Given the description of an element on the screen output the (x, y) to click on. 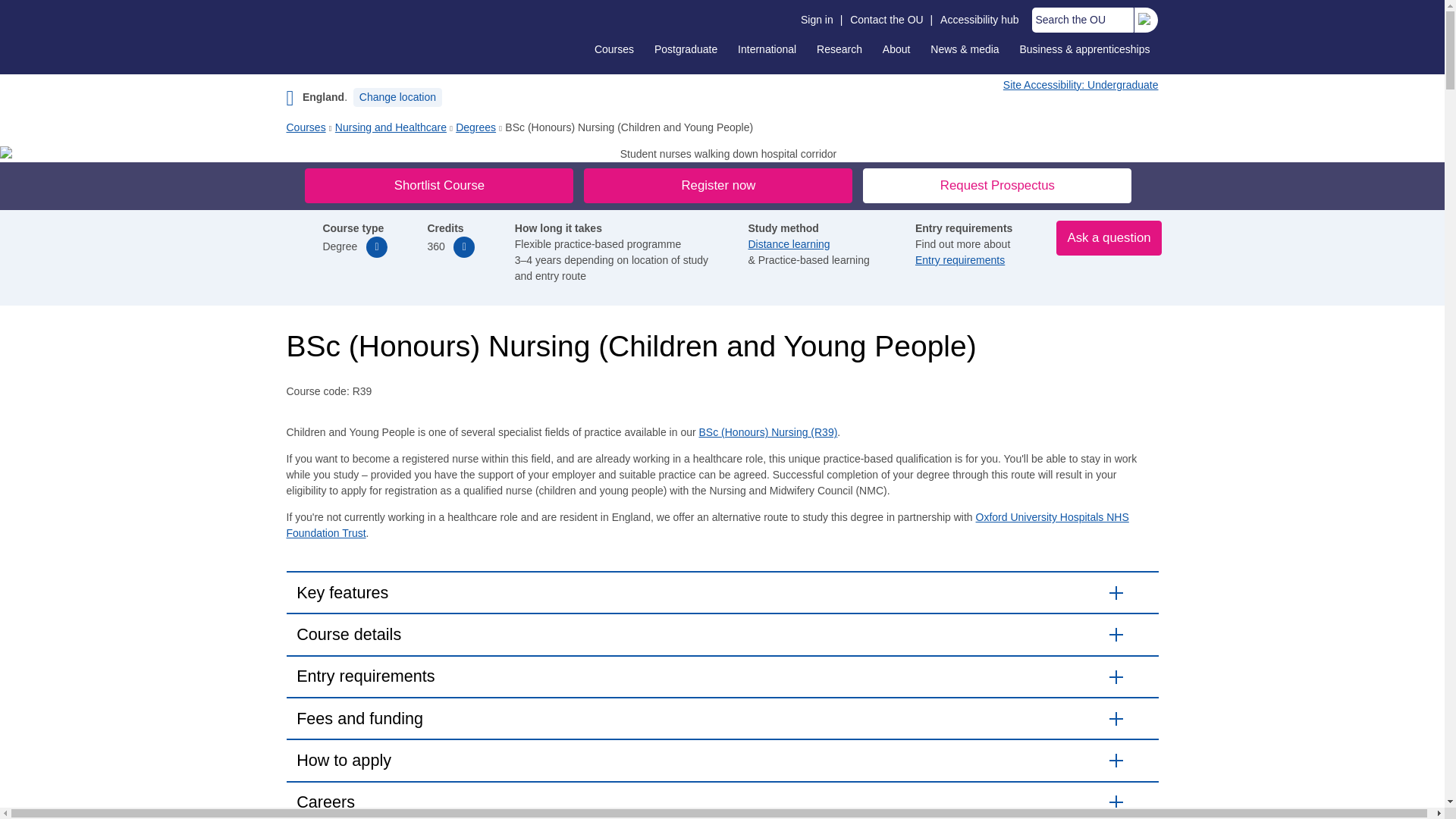
Postgraduate (685, 49)
Register now (717, 185)
International (767, 49)
Search (1144, 19)
Accessibility hub (979, 19)
About (896, 49)
Show Degree help (376, 246)
Contact the OU (886, 19)
Courses (614, 49)
